Given the description of an element on the screen output the (x, y) to click on. 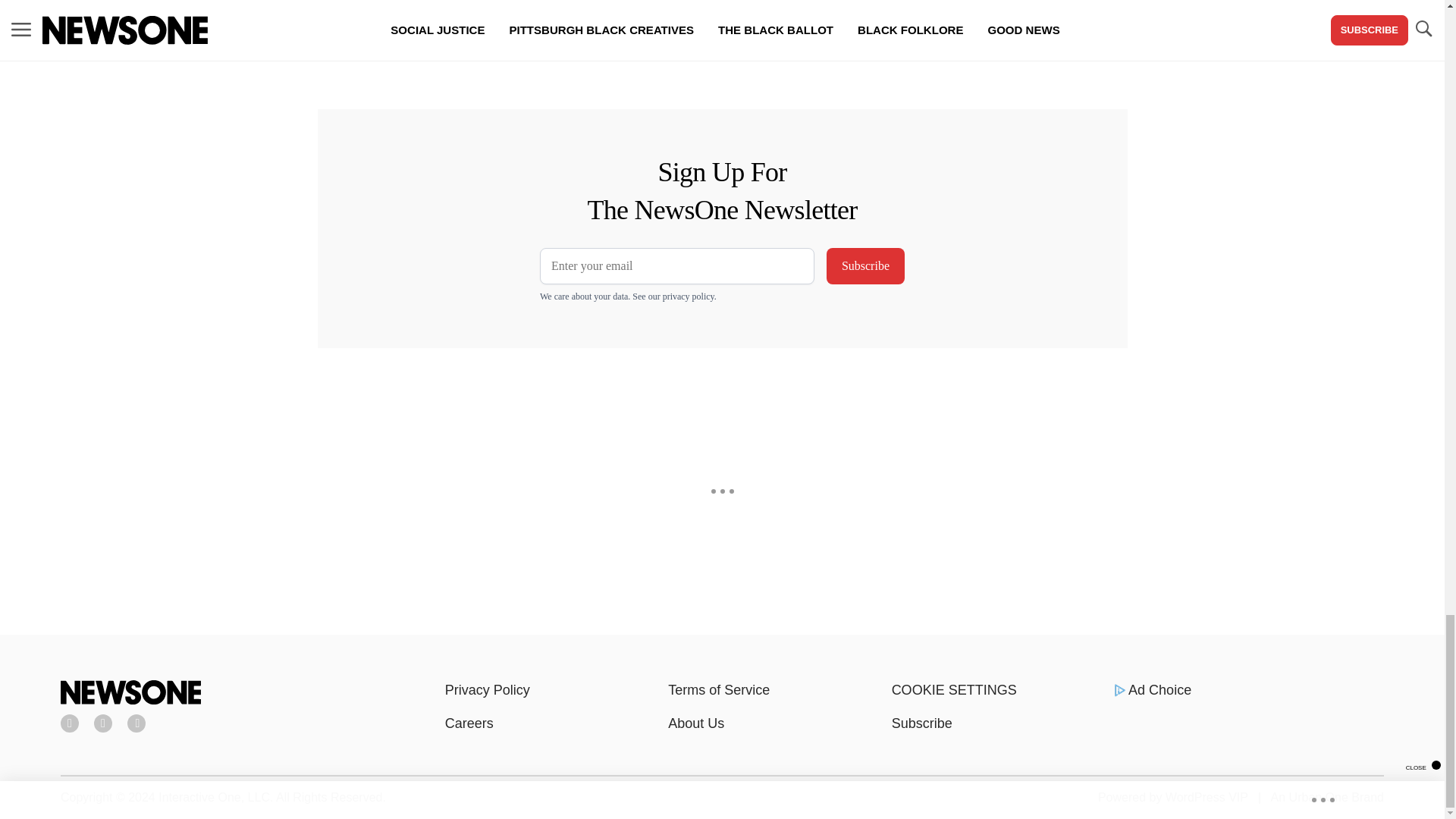
Load More (240, 38)
Load More (240, 38)
Load More (596, 38)
